Given the description of an element on the screen output the (x, y) to click on. 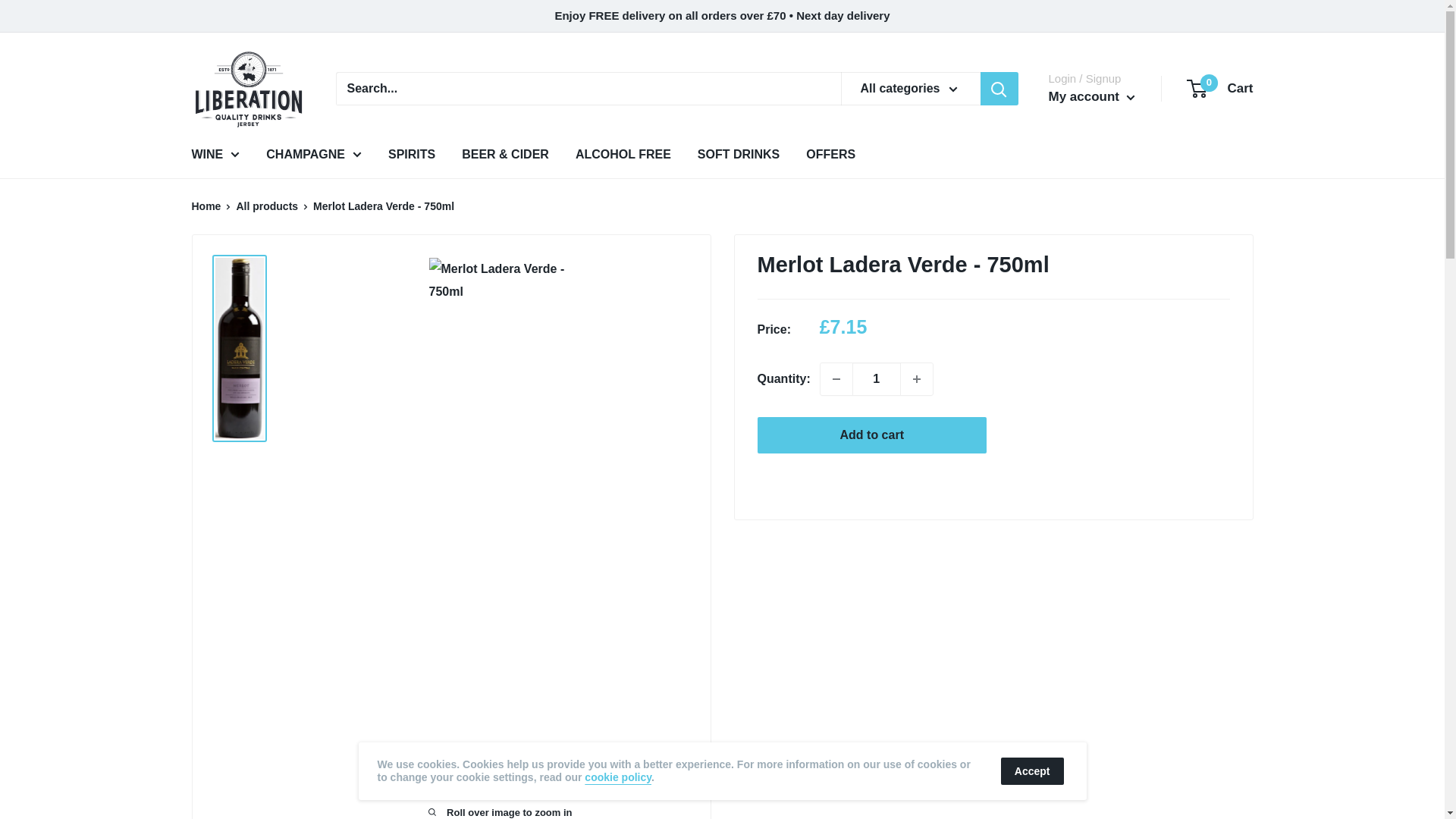
My account (1091, 96)
CHAMPAGNE (1220, 88)
Decrease quantity by 1 (313, 154)
Increase quantity by 1 (836, 378)
WINE (917, 378)
1 (215, 154)
